Given the description of an element on the screen output the (x, y) to click on. 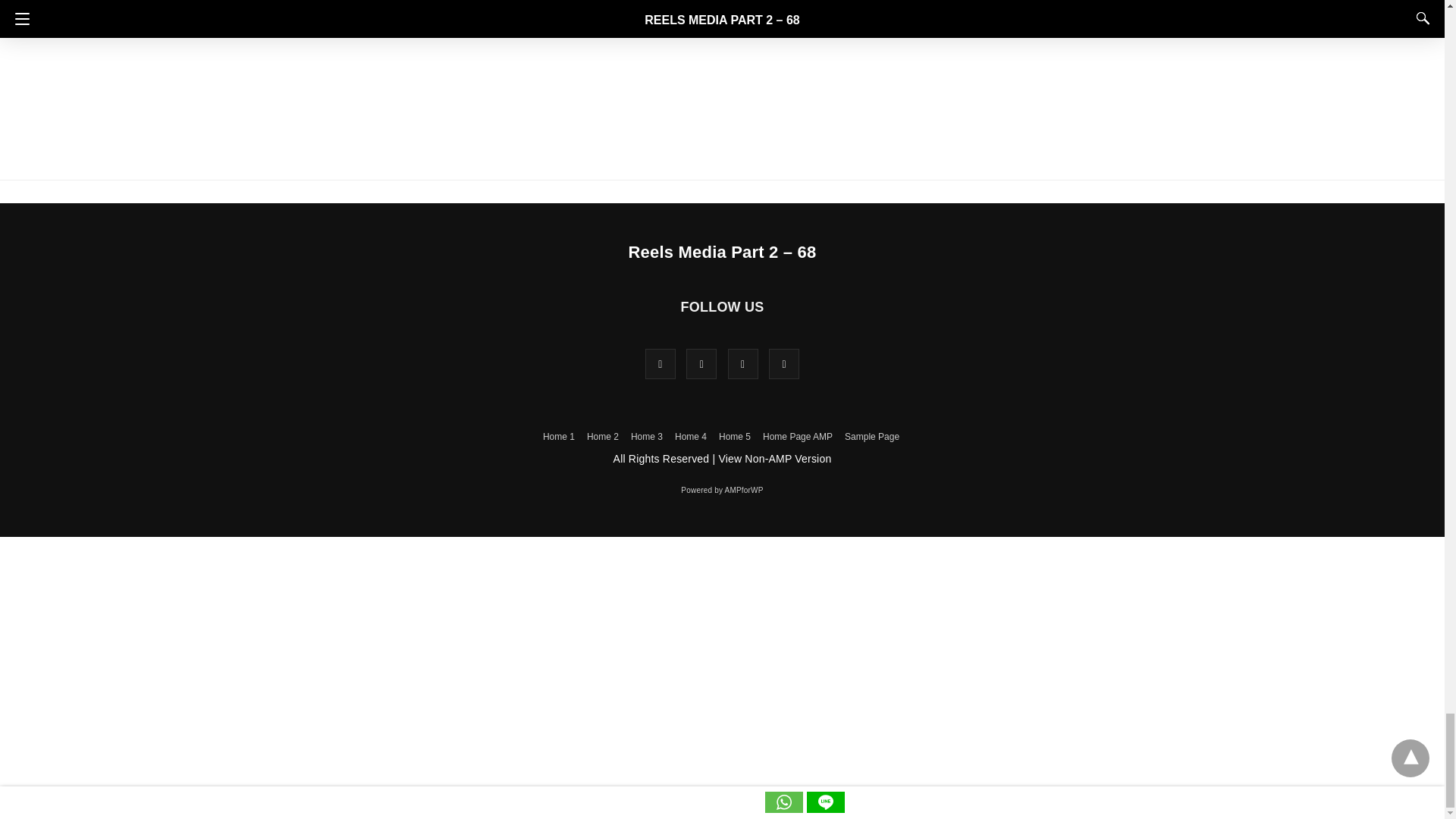
Home 2 (602, 436)
Home 4 (690, 436)
Home 1 (559, 436)
Home 3 (646, 436)
Powered by AMPforWP (721, 490)
Home Page AMP (797, 436)
View Non-AMP Version (774, 458)
Sample Page (871, 436)
Home 5 (735, 436)
